Given the description of an element on the screen output the (x, y) to click on. 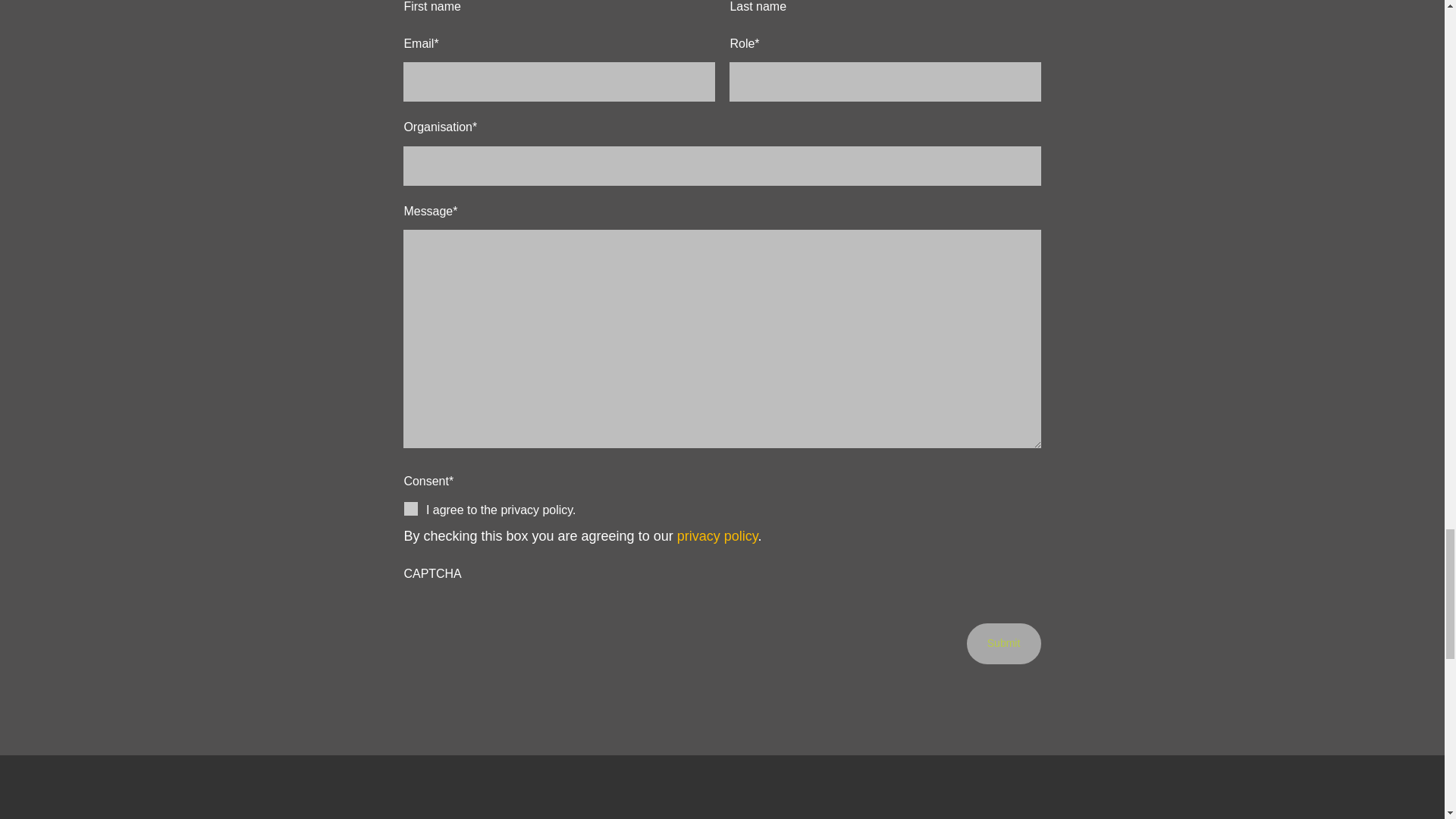
1 (411, 508)
Submit (1003, 643)
privacy policy (717, 535)
Submit (1003, 643)
